Given the description of an element on the screen output the (x, y) to click on. 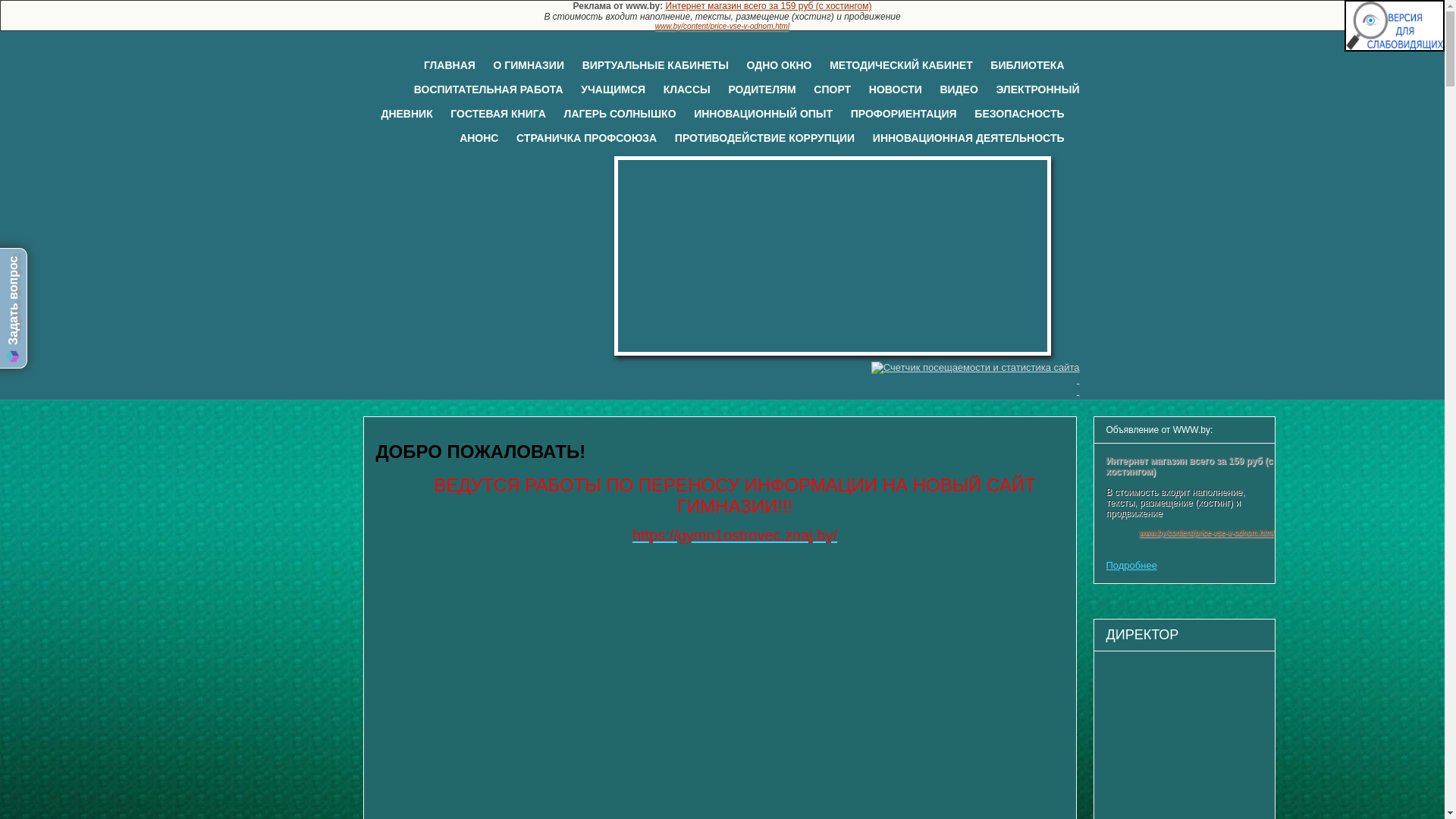
www.by/content/price-vse-v-odnom.html Element type: text (722, 25)
https://gymn1ostrovec.znaj.by/ Element type: text (734, 535)
    Element type: text (722, 378)
www.by/content/price-vse-v-odnom.html Element type: text (1206, 532)
